Given the description of an element on the screen output the (x, y) to click on. 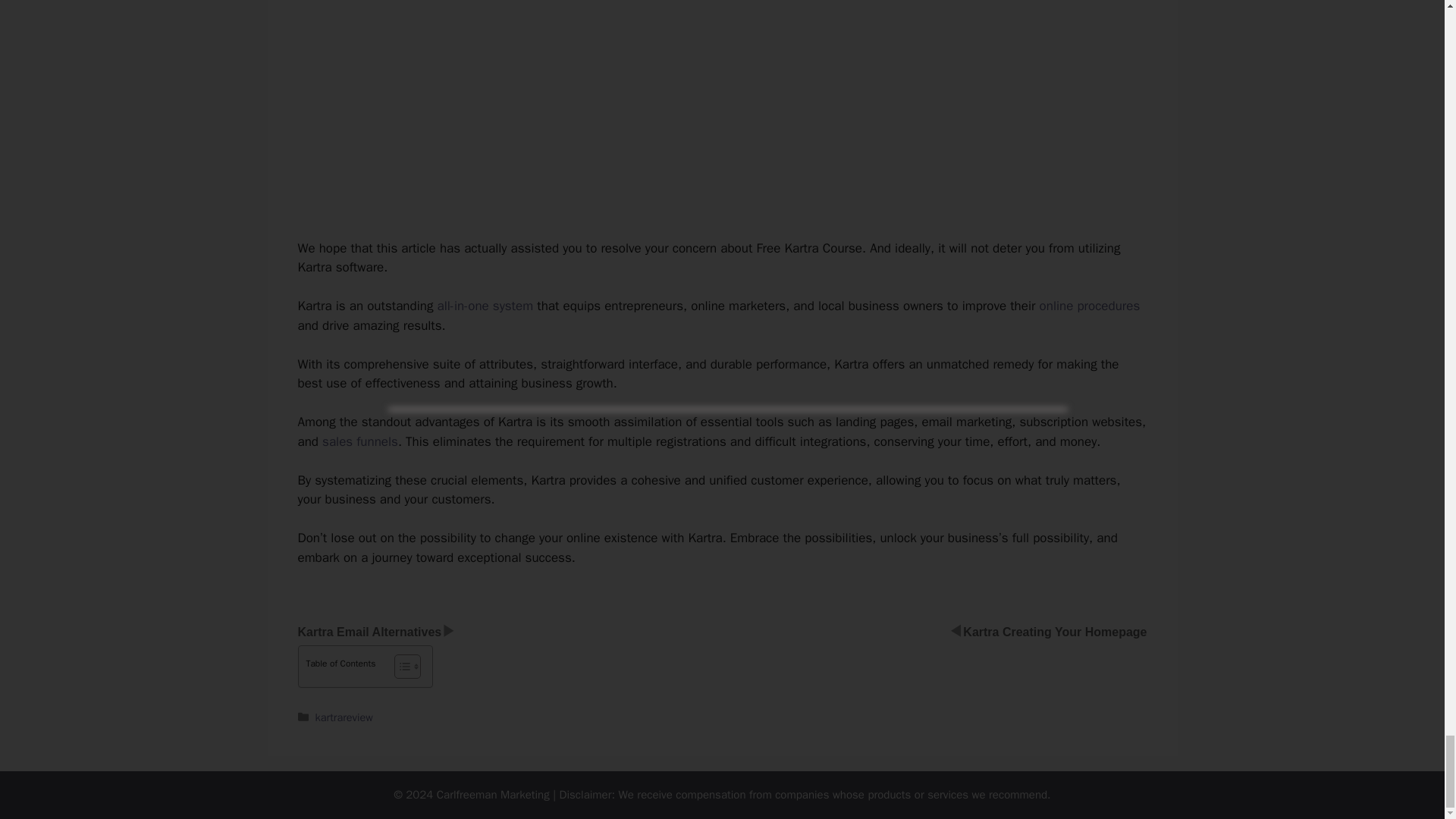
Kartra Email Alternatives (369, 631)
sales funnels (359, 441)
Kartra Email Alternatives (369, 631)
Kartra Creating Your Homepage (1054, 631)
online procedures (1089, 305)
all-in-one system (484, 305)
Kartra Creating Your Homepage (1054, 631)
